Given the description of an element on the screen output the (x, y) to click on. 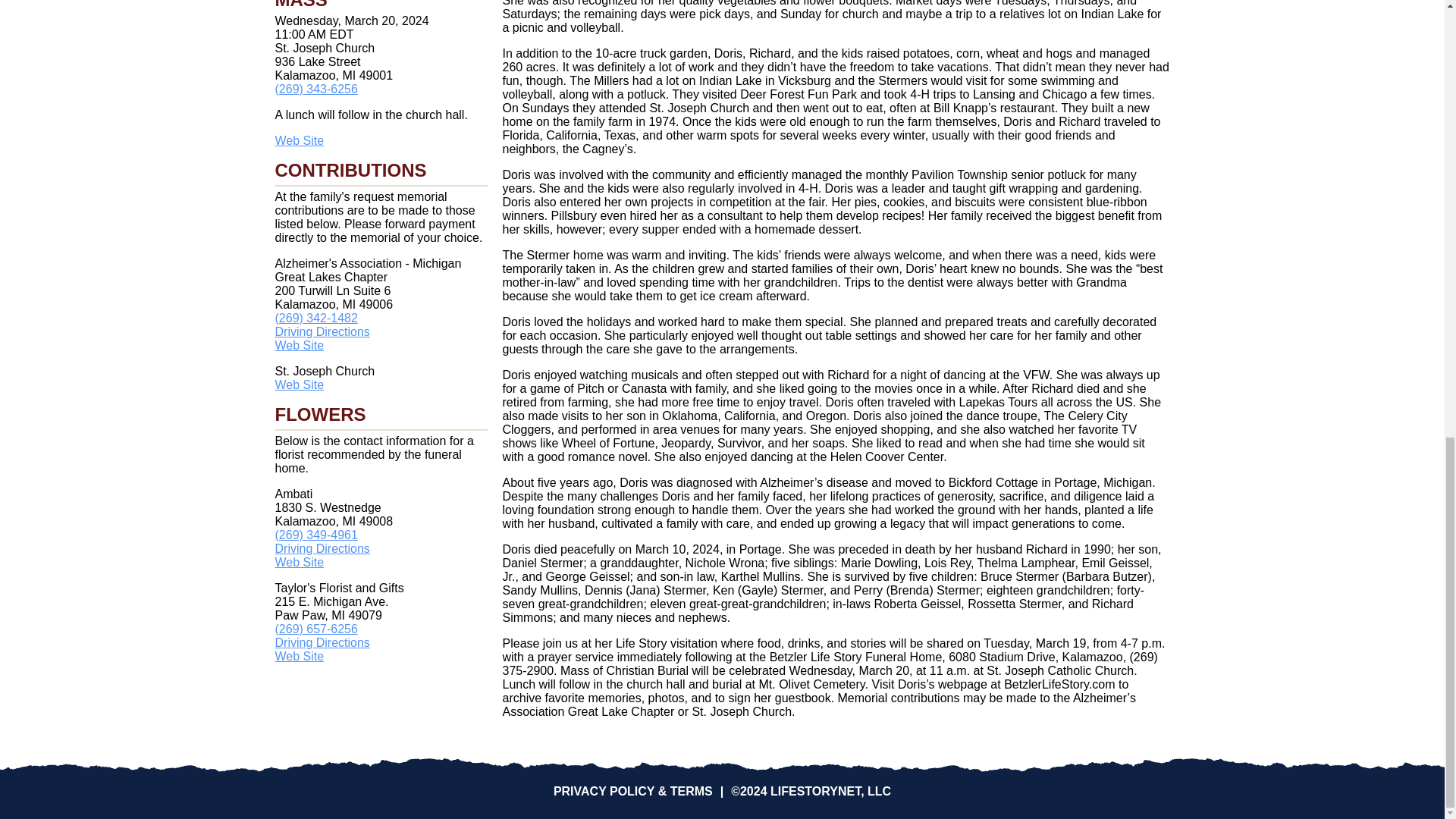
Driving Directions (322, 548)
Web Site (299, 345)
Web Site (299, 562)
Driving Directions (322, 331)
Web Site (299, 140)
Driving Directions (322, 642)
Web Site (299, 656)
Web Site (299, 384)
